Given the description of an element on the screen output the (x, y) to click on. 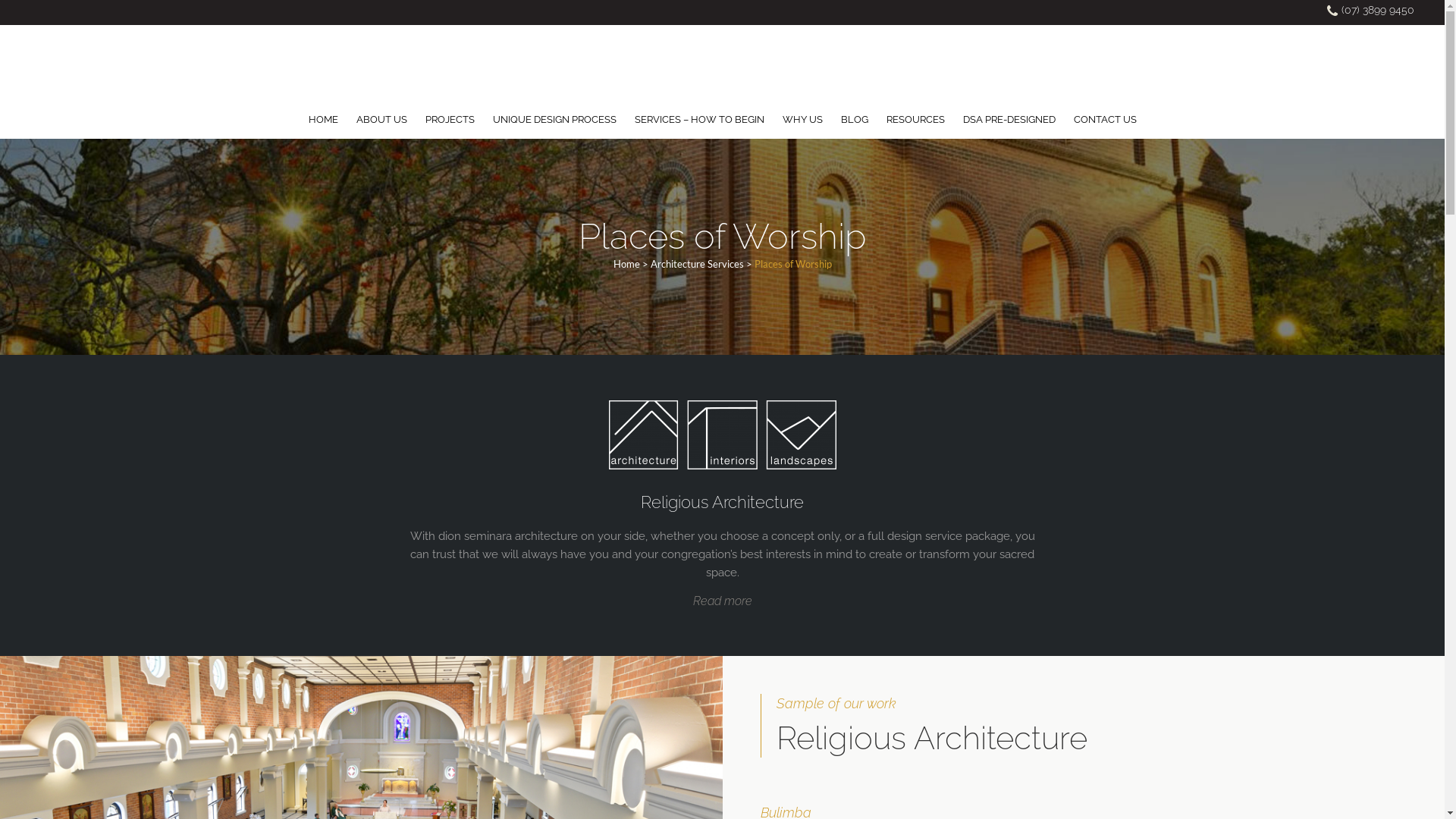
ABOUT US Element type: text (381, 119)
Read more Element type: text (721, 601)
PROJECTS Element type: text (449, 119)
DSA_squarelogo white text architecture 2018 Element type: hover (721, 434)
Home Element type: text (625, 263)
Architecture Services Element type: text (696, 263)
WHY US Element type: text (802, 119)
DSA PRE-DESIGNED Element type: text (1008, 119)
HOME Element type: text (322, 119)
BLOG Element type: text (853, 119)
CONTACT US Element type: text (1104, 119)
RESOURCES Element type: text (914, 119)
UNIQUE DESIGN PROCESS Element type: text (554, 119)
